Given the description of an element on the screen output the (x, y) to click on. 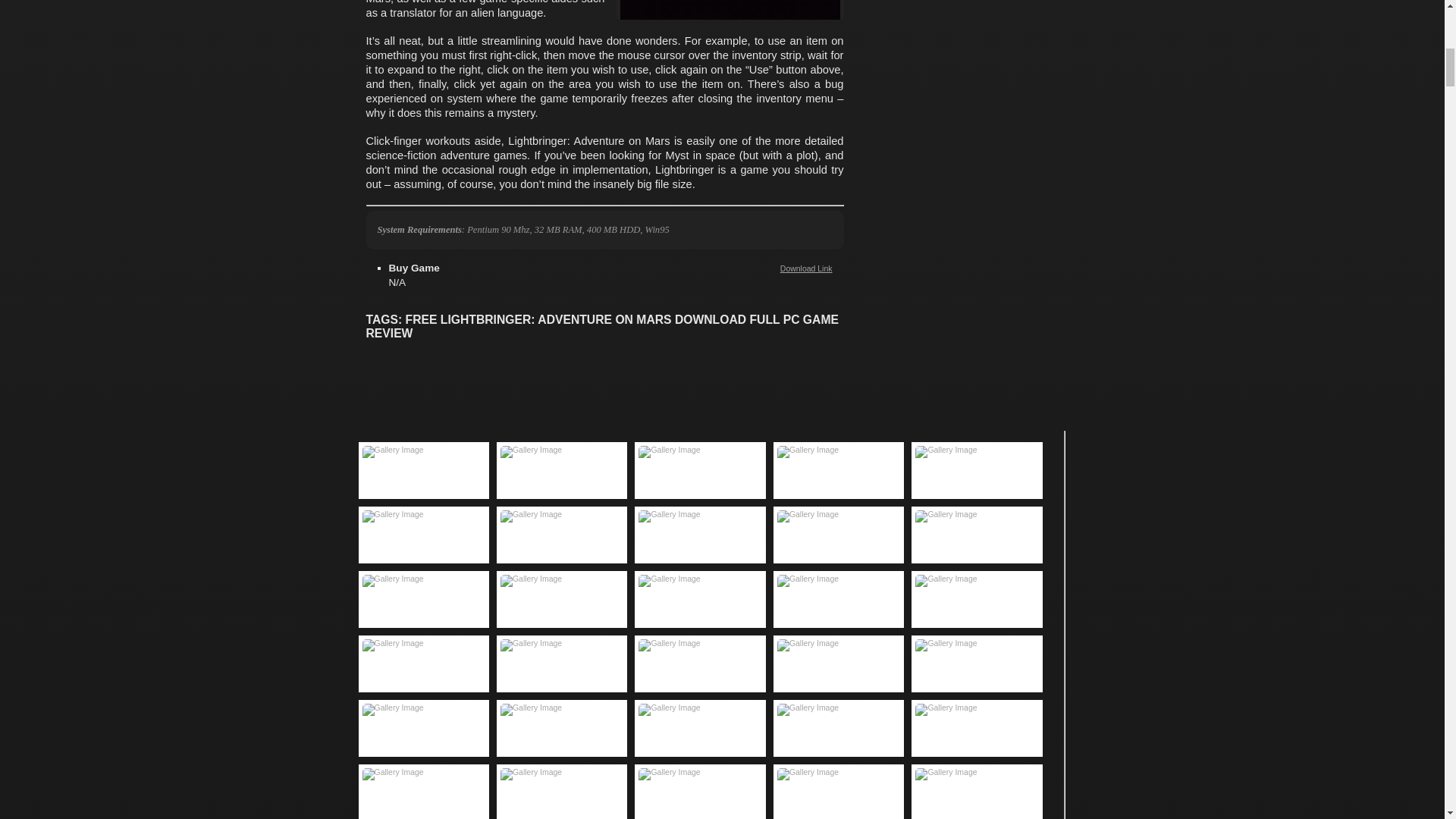
Gallery Image (423, 470)
Gallery Image (700, 534)
Gallery Image (976, 470)
Gallery Image (423, 534)
Gallery Image (838, 599)
Gallery Image (700, 470)
Gallery Image (838, 470)
Download Link (806, 268)
Gallery Image (561, 599)
Gallery Image (561, 470)
Gallery Image (561, 534)
Gallery Image (838, 534)
Gallery Image (700, 599)
Gallery Image (976, 534)
Gallery Image (423, 599)
